Given the description of an element on the screen output the (x, y) to click on. 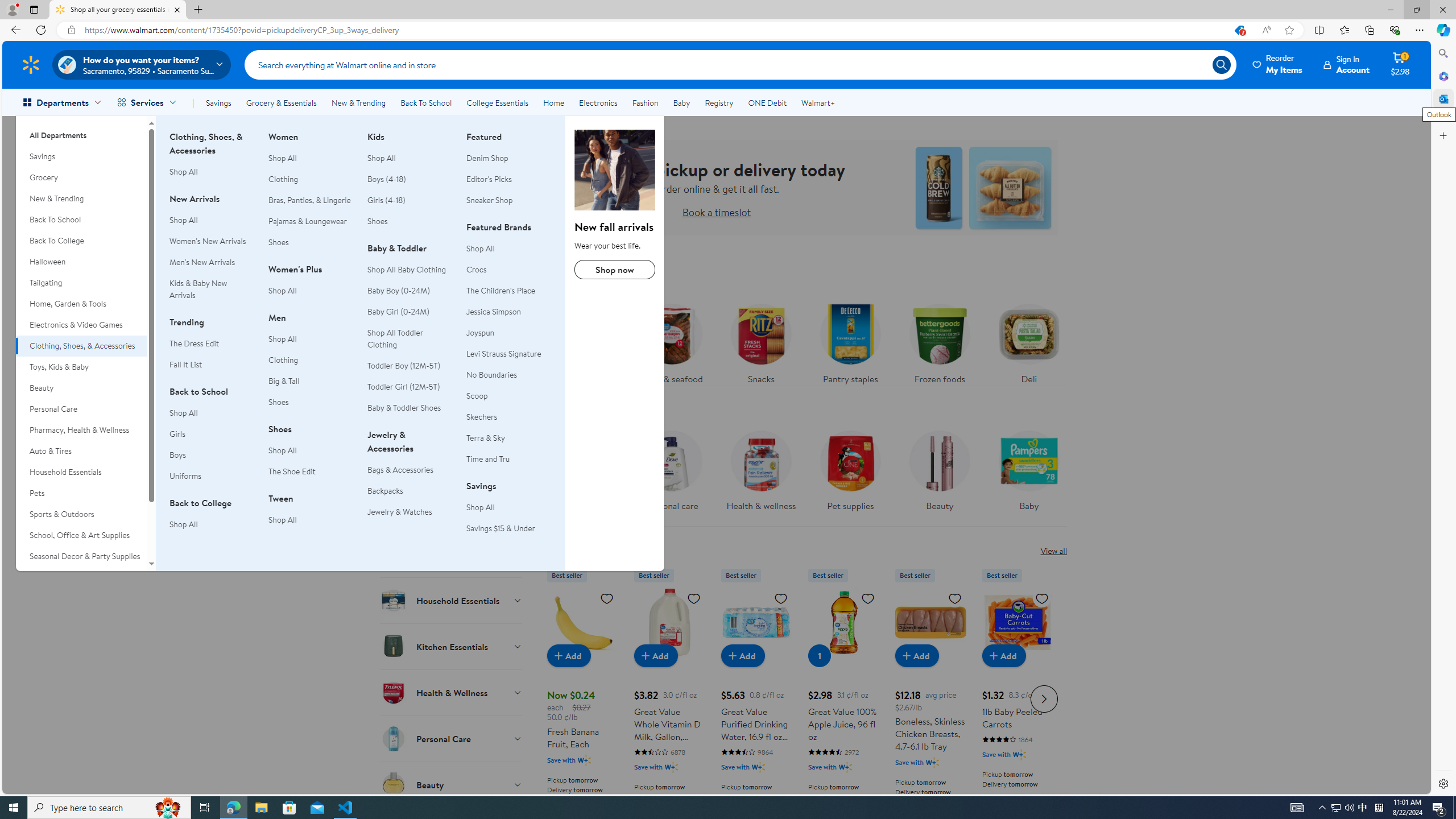
Beauty (938, 473)
TweenShop All (310, 515)
Add to cart - 1lb Baby Peeled Carrots (1004, 655)
Boys (177, 454)
Grocery & Essentials (280, 102)
FeaturedDenim ShopEditor's PicksSneaker Shop (508, 174)
Back To School (425, 102)
Clothing (282, 360)
Halloween (81, 261)
Shoes (376, 220)
Girls (211, 434)
